Given the description of an element on the screen output the (x, y) to click on. 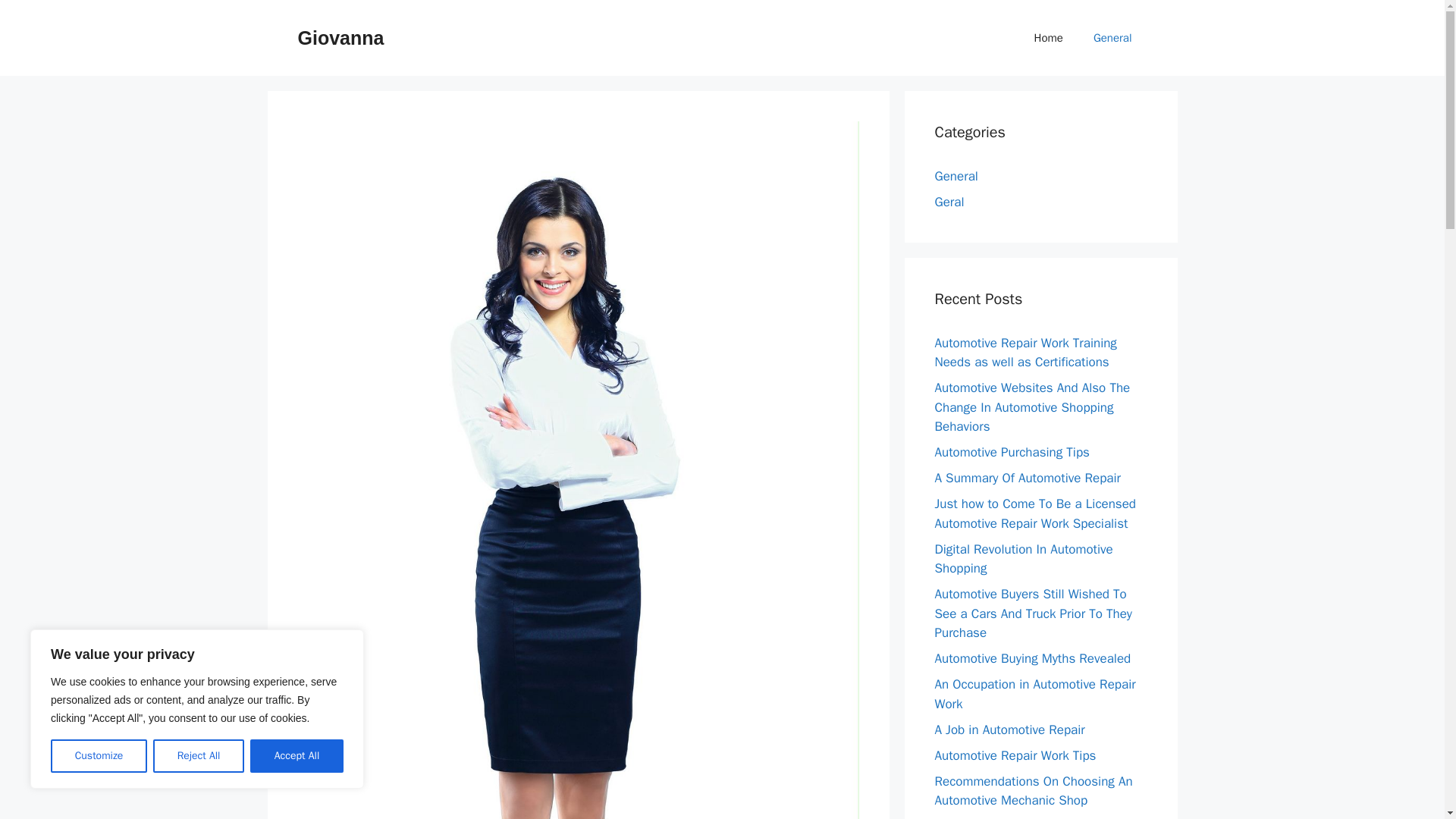
Customize (98, 756)
Giovanna (340, 37)
Reject All (198, 756)
Accept All (296, 756)
Geral (948, 201)
Automotive Purchasing Tips (1011, 452)
General (955, 176)
